Given the description of an element on the screen output the (x, y) to click on. 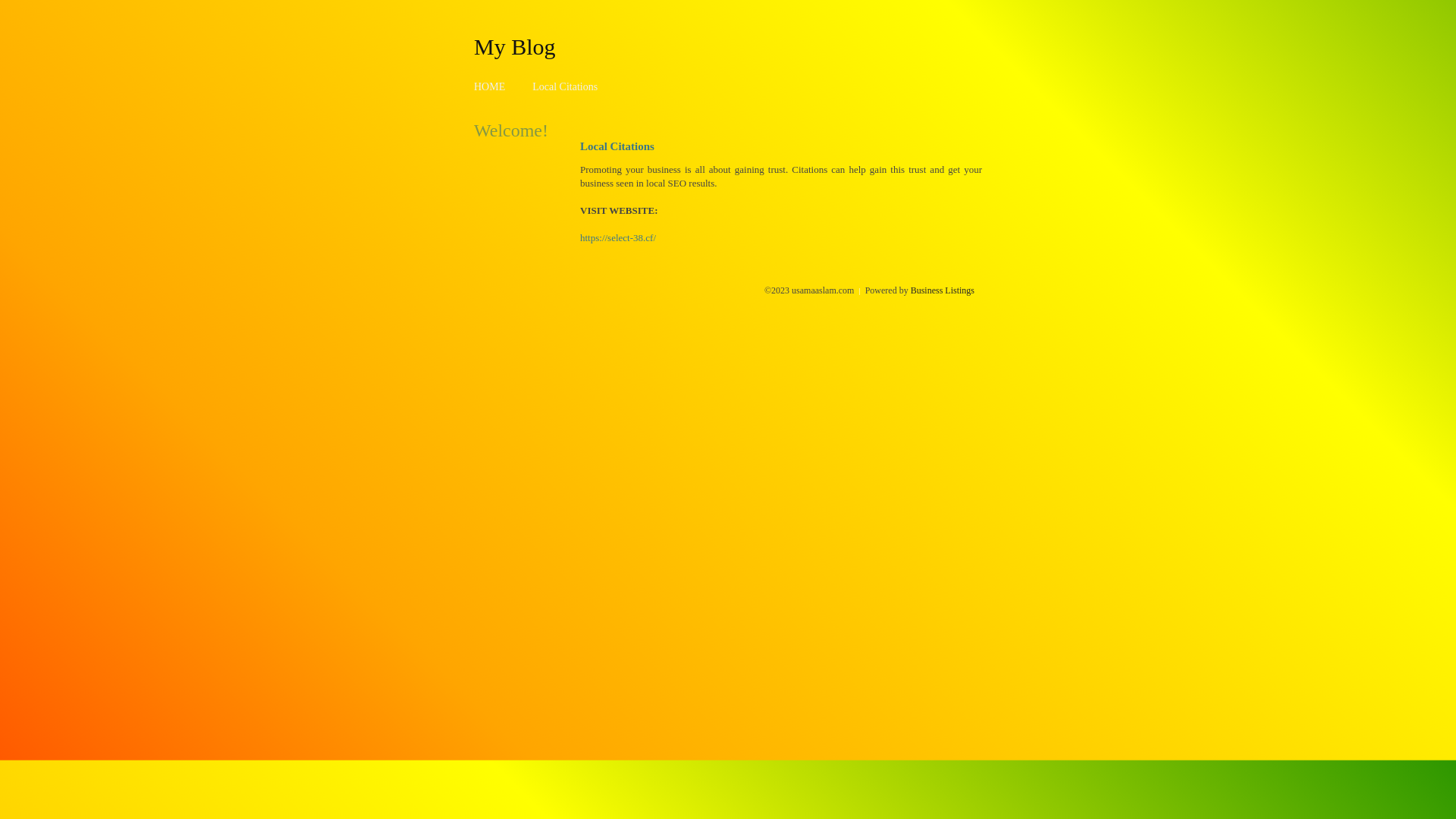
HOME Element type: text (489, 86)
https://select-38.cf/ Element type: text (617, 237)
Business Listings Element type: text (942, 290)
My Blog Element type: text (514, 46)
Local Citations Element type: text (564, 86)
